Given the description of an element on the screen output the (x, y) to click on. 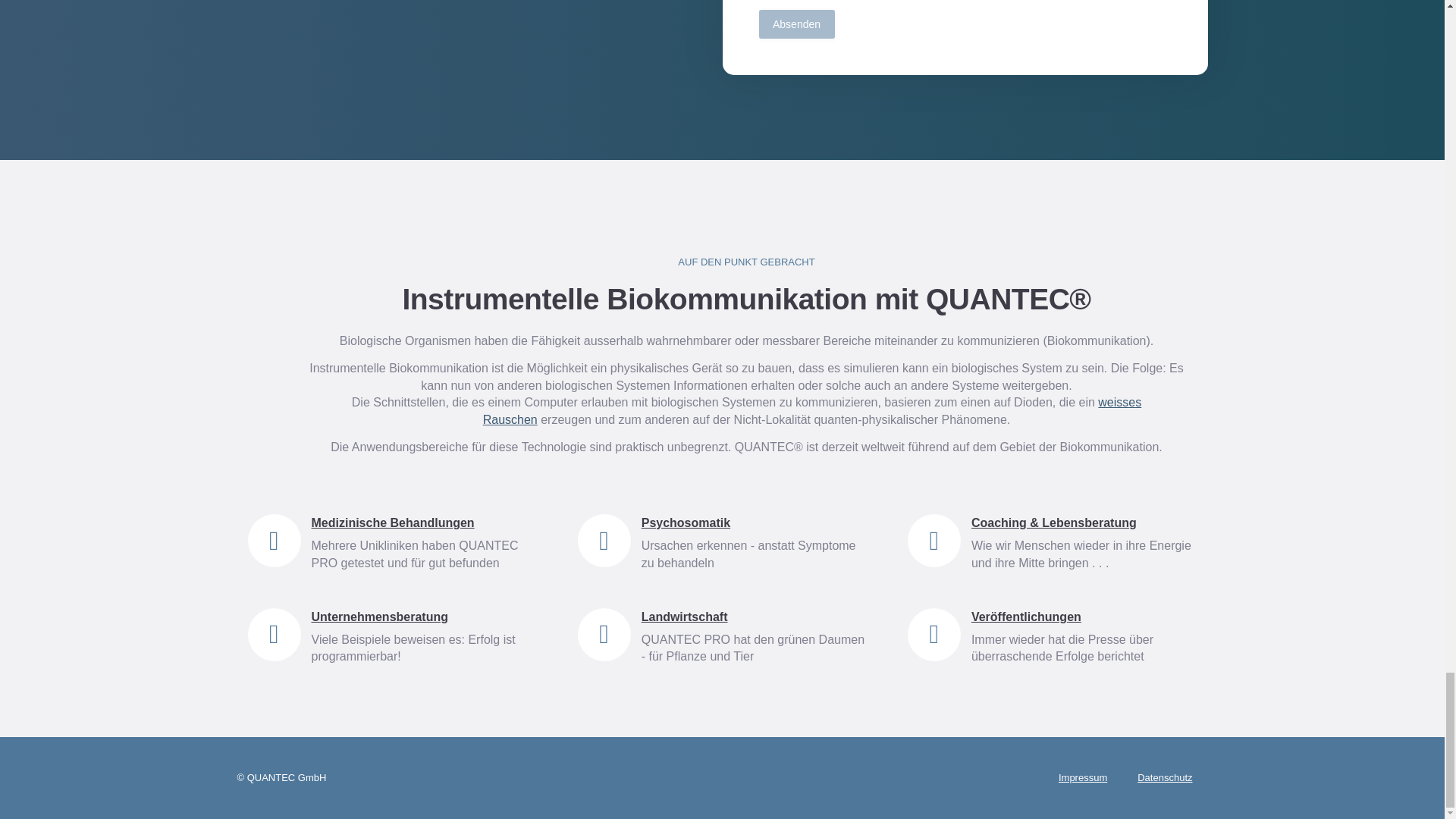
Absenden (796, 23)
